Given the description of an element on the screen output the (x, y) to click on. 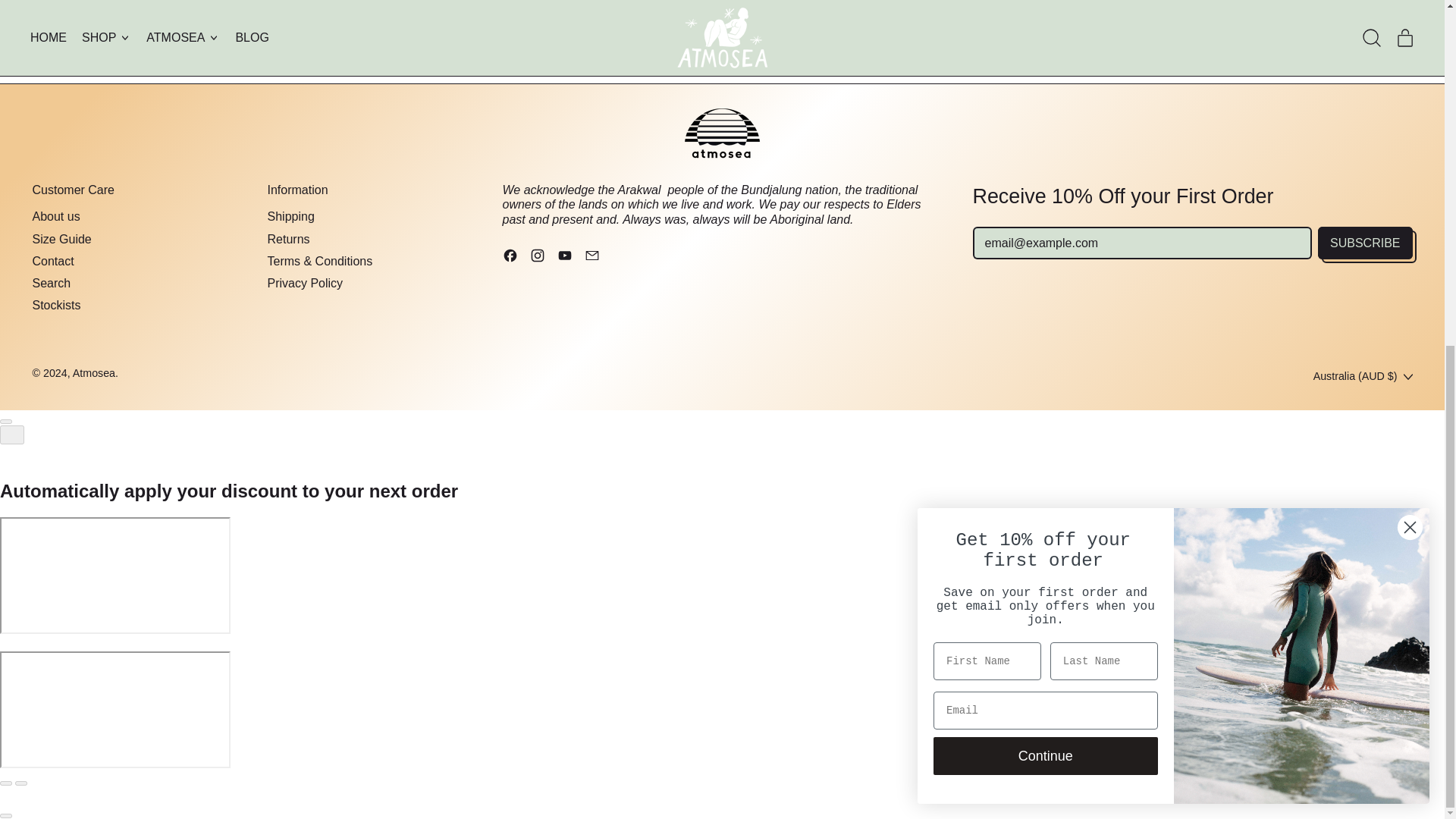
Shipping (290, 215)
Size Guide (61, 238)
Facebook (509, 258)
YouTube (564, 258)
About us (56, 215)
Email (590, 258)
Instagram (536, 258)
Returns (287, 238)
Search (50, 282)
SUBSCRIBE (1364, 242)
Contact (53, 260)
Privacy Policy (304, 282)
Stockists (56, 305)
